Given the description of an element on the screen output the (x, y) to click on. 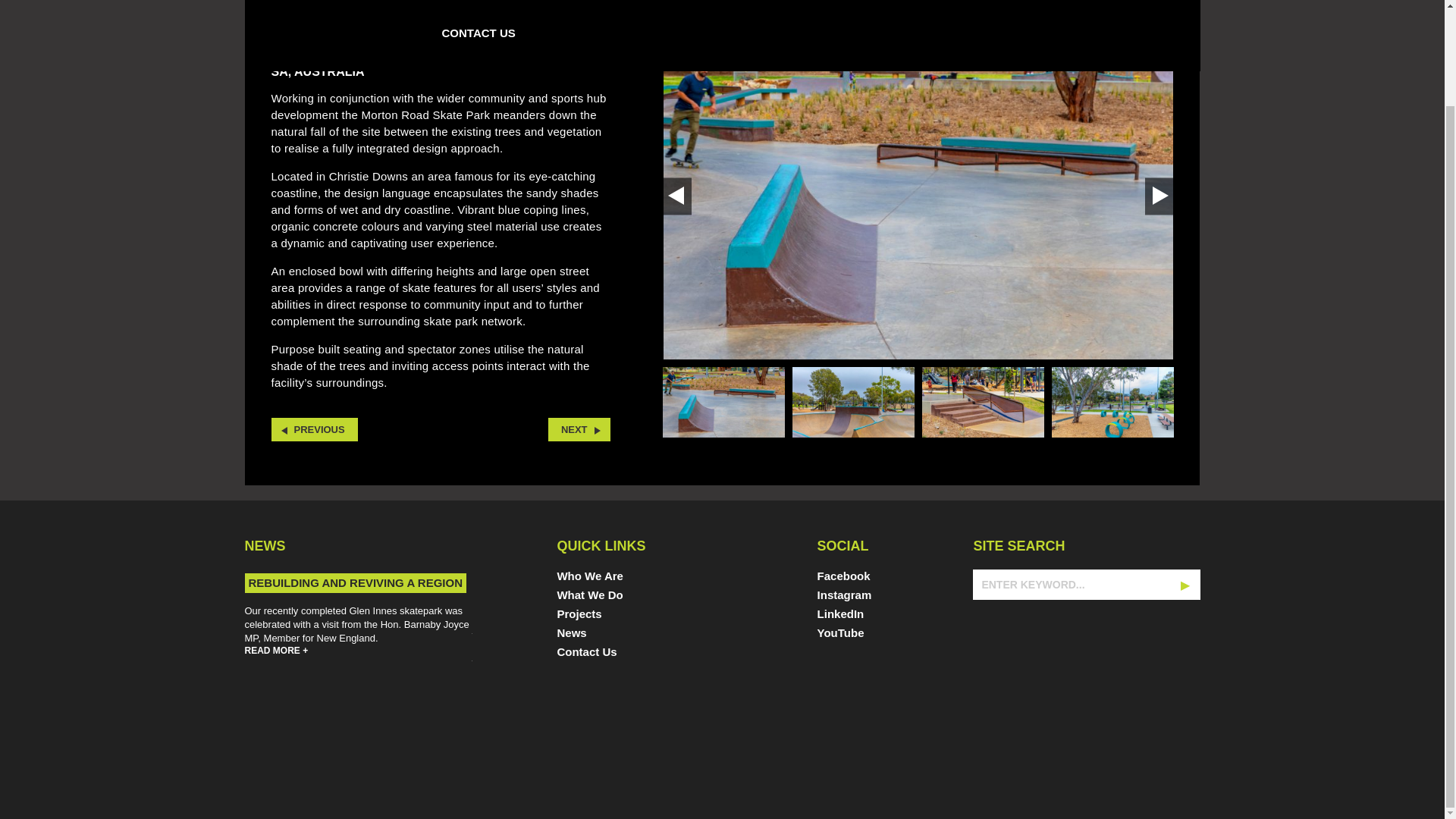
PREVIOUS (314, 429)
CONTACT US (478, 35)
What We Do (600, 597)
Who We Are (600, 578)
REBUILDING AND REVIVING A REGION (354, 582)
NEXT (579, 429)
